Given the description of an element on the screen output the (x, y) to click on. 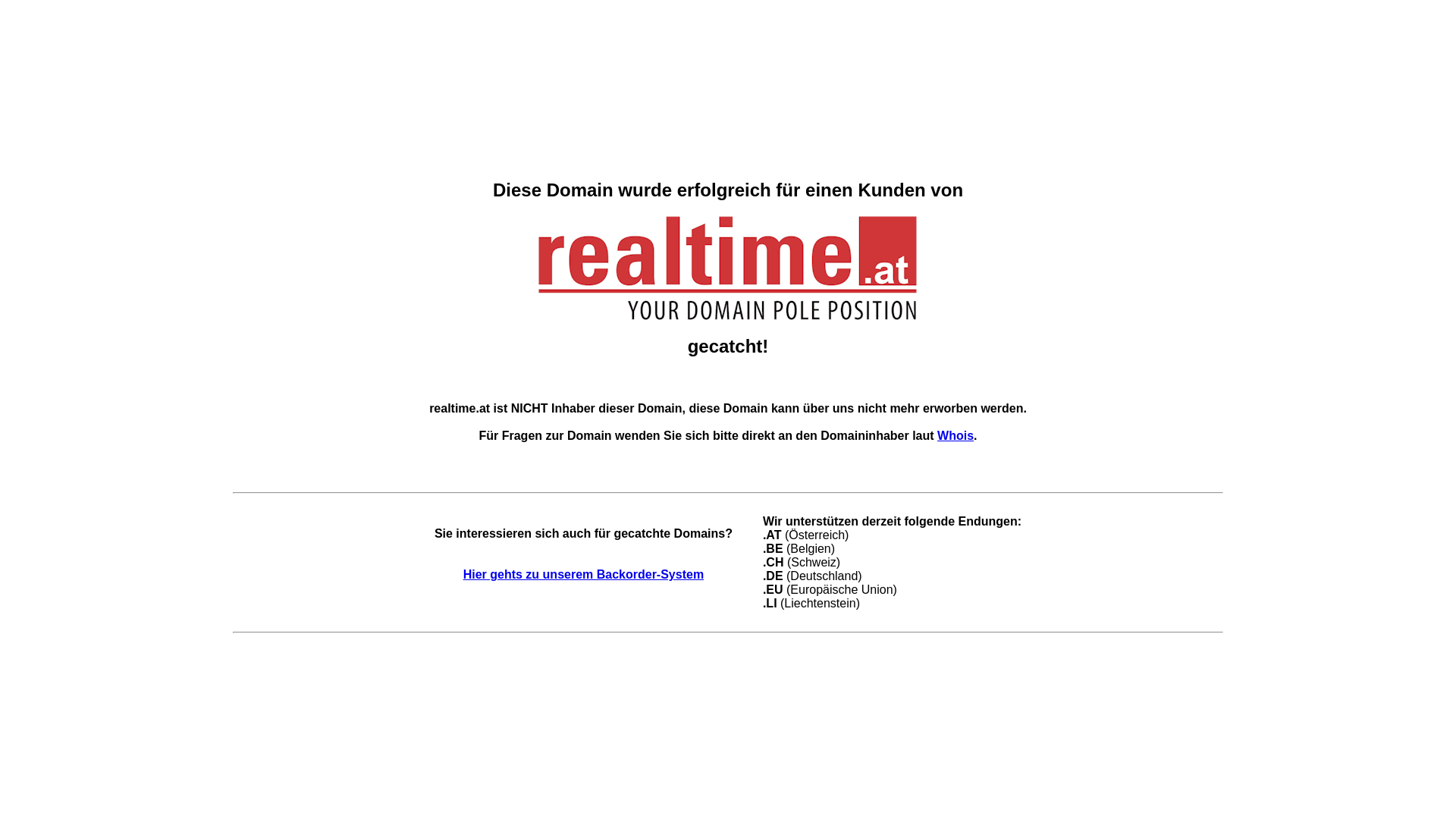
Whois Element type: text (955, 435)
Hier gehts zu unserem Backorder-System Element type: text (583, 573)
